Given the description of an element on the screen output the (x, y) to click on. 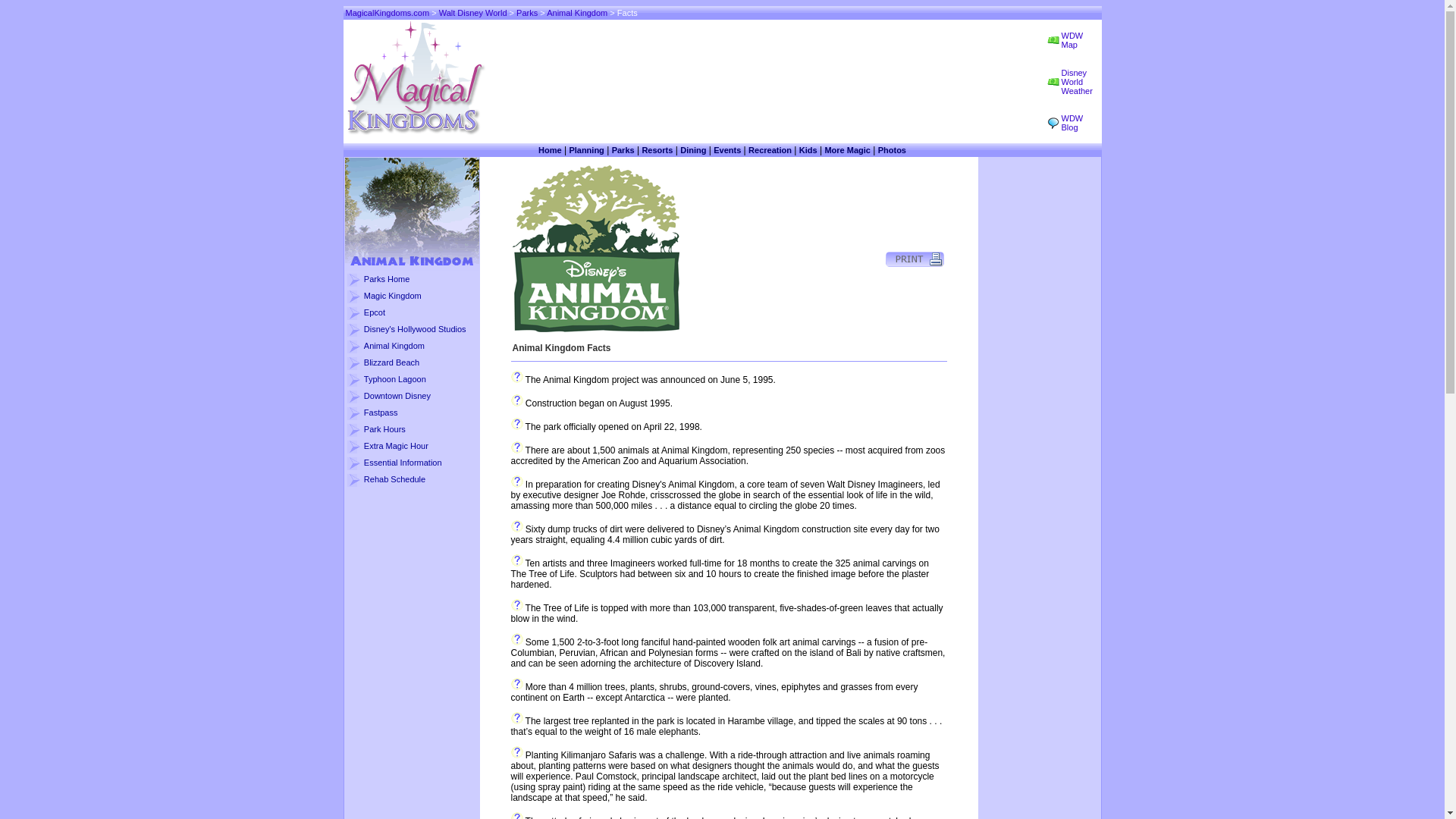
Walt Disney World Guide (550, 149)
MagicalKingdoms.com (387, 12)
Parks Home (387, 278)
Photos (891, 149)
Epcot (374, 311)
Disney World Weather (1077, 81)
Rehab Schedule (394, 479)
Typhoon Lagoon (395, 379)
Animal Kingdom (394, 345)
Essential Information (403, 461)
Events (727, 149)
Recreation (770, 149)
Extra Magic Hour (396, 445)
wdw orlando weather (1077, 81)
Magic Kingdom (393, 295)
